Given the description of an element on the screen output the (x, y) to click on. 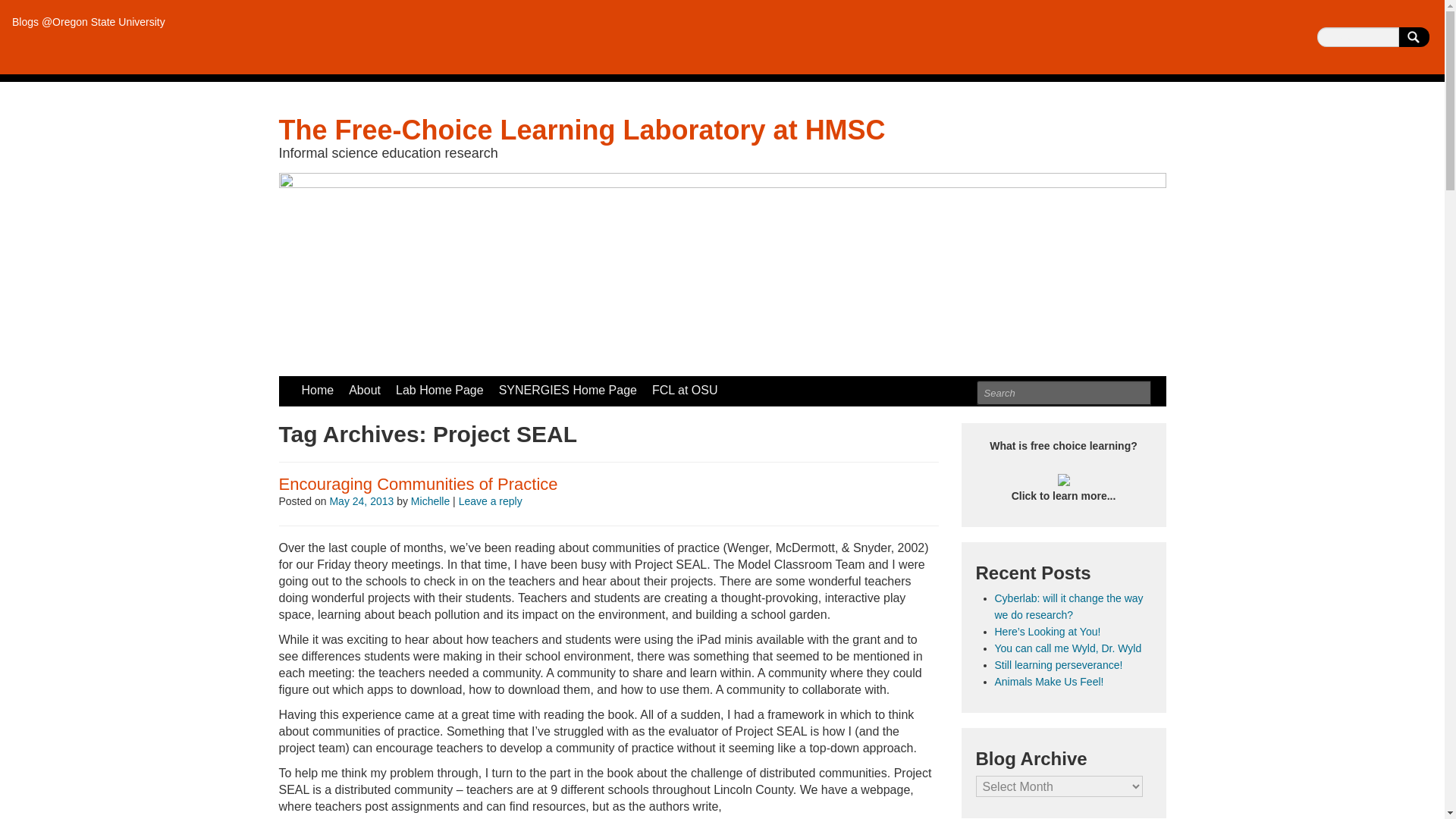
Leave a reply (490, 500)
Skip to primary content (341, 384)
Lab Home Page (440, 390)
Skip to secondary content (349, 384)
Permalink to Encouraging Communities of Practice (418, 484)
The Free-Choice Learning Laboratory at HMSC (582, 129)
May 24, 2013 (361, 500)
About (364, 390)
Skip to primary content (341, 384)
